Given the description of an element on the screen output the (x, y) to click on. 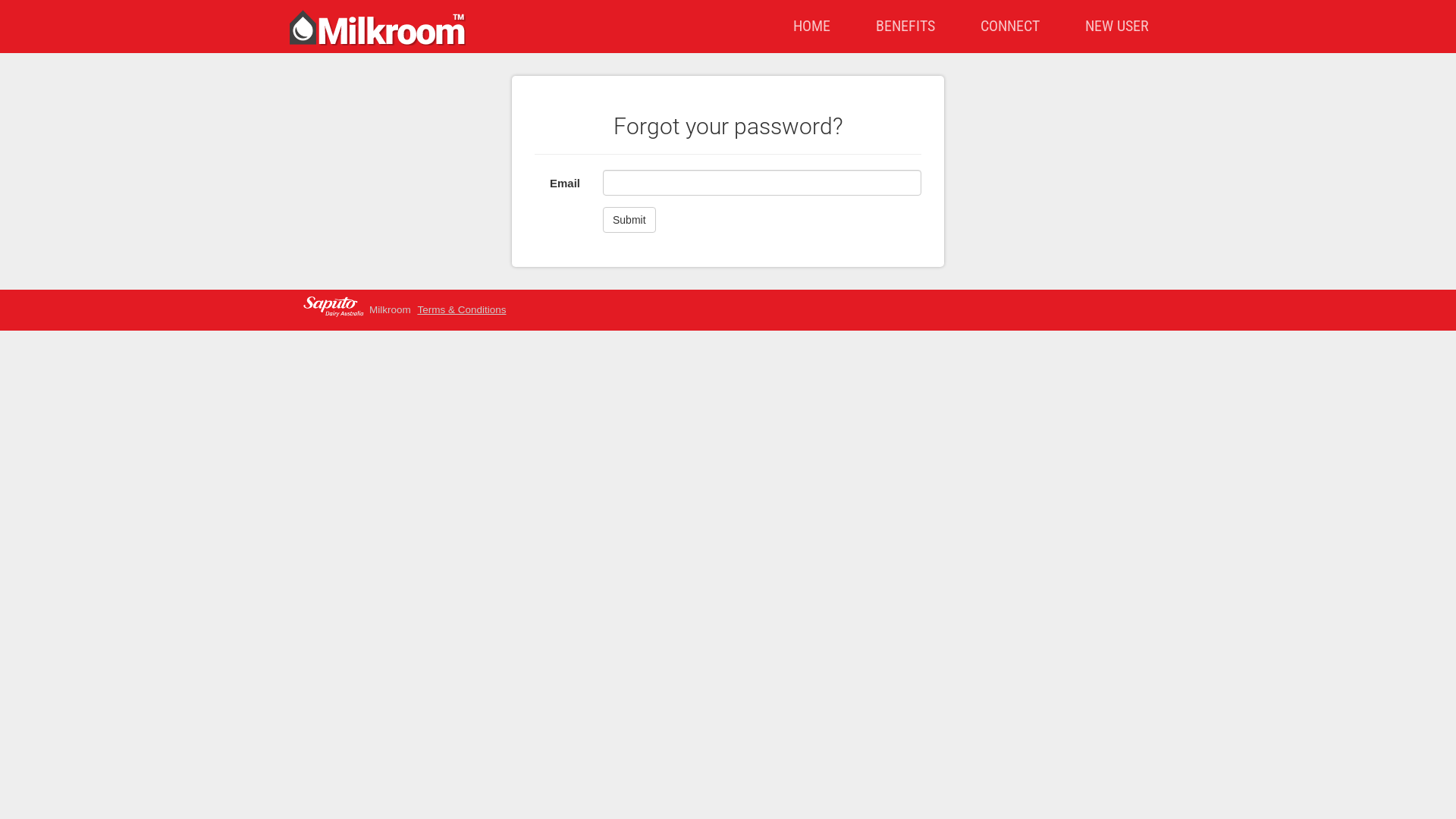
HOME Element type: text (811, 26)
NEW USER Element type: text (1116, 26)
Terms & Conditions Element type: text (461, 309)
BENEFITS Element type: text (905, 26)
CONNECT Element type: text (1010, 26)
Submit Element type: text (628, 219)
